Given the description of an element on the screen output the (x, y) to click on. 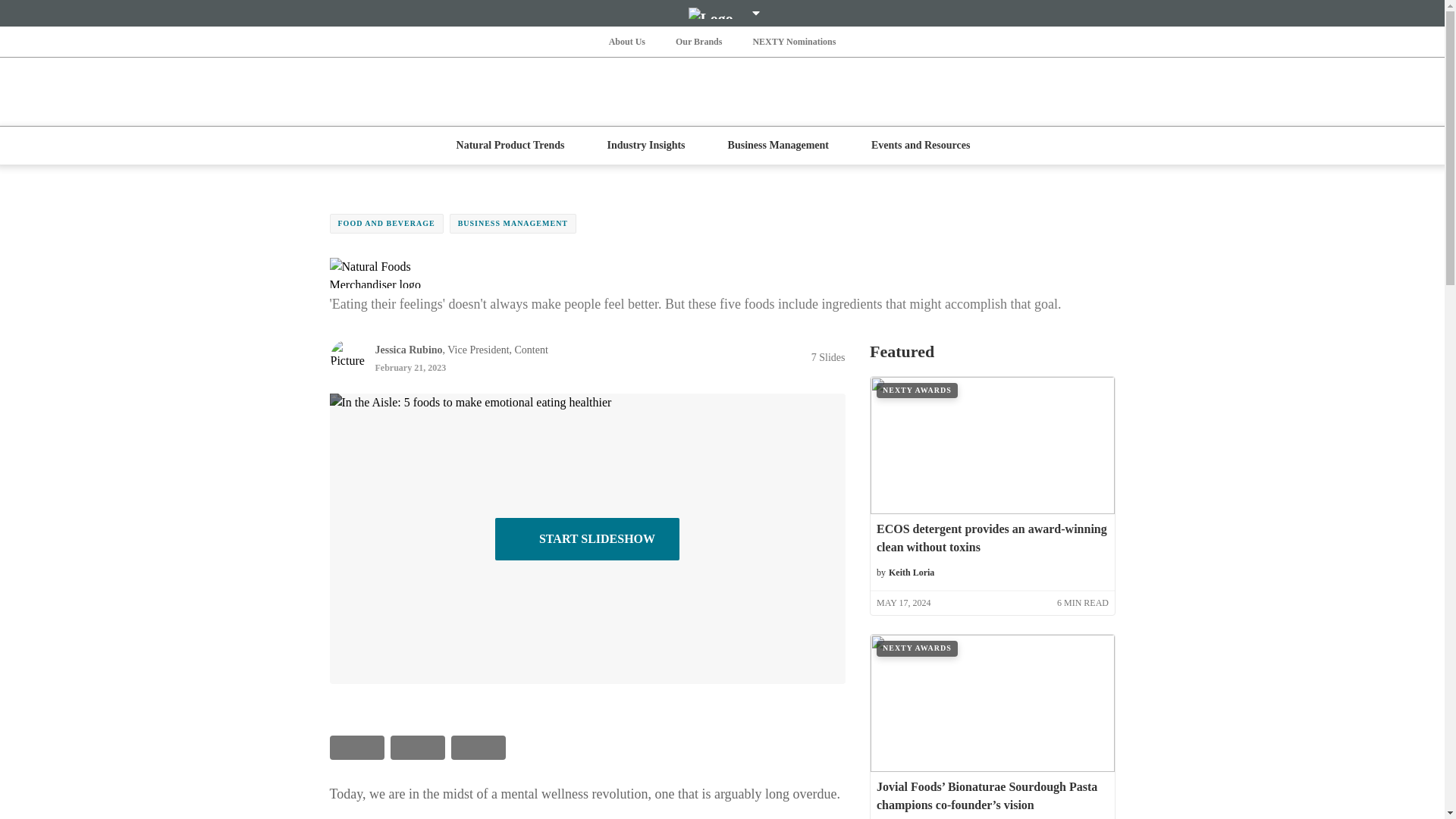
Natural Foods Merchandiser logo (401, 272)
NEXTY Nominations (793, 41)
Our Brands (698, 41)
About Us (626, 41)
Picture of Jessica Rubino (347, 357)
